Given the description of an element on the screen output the (x, y) to click on. 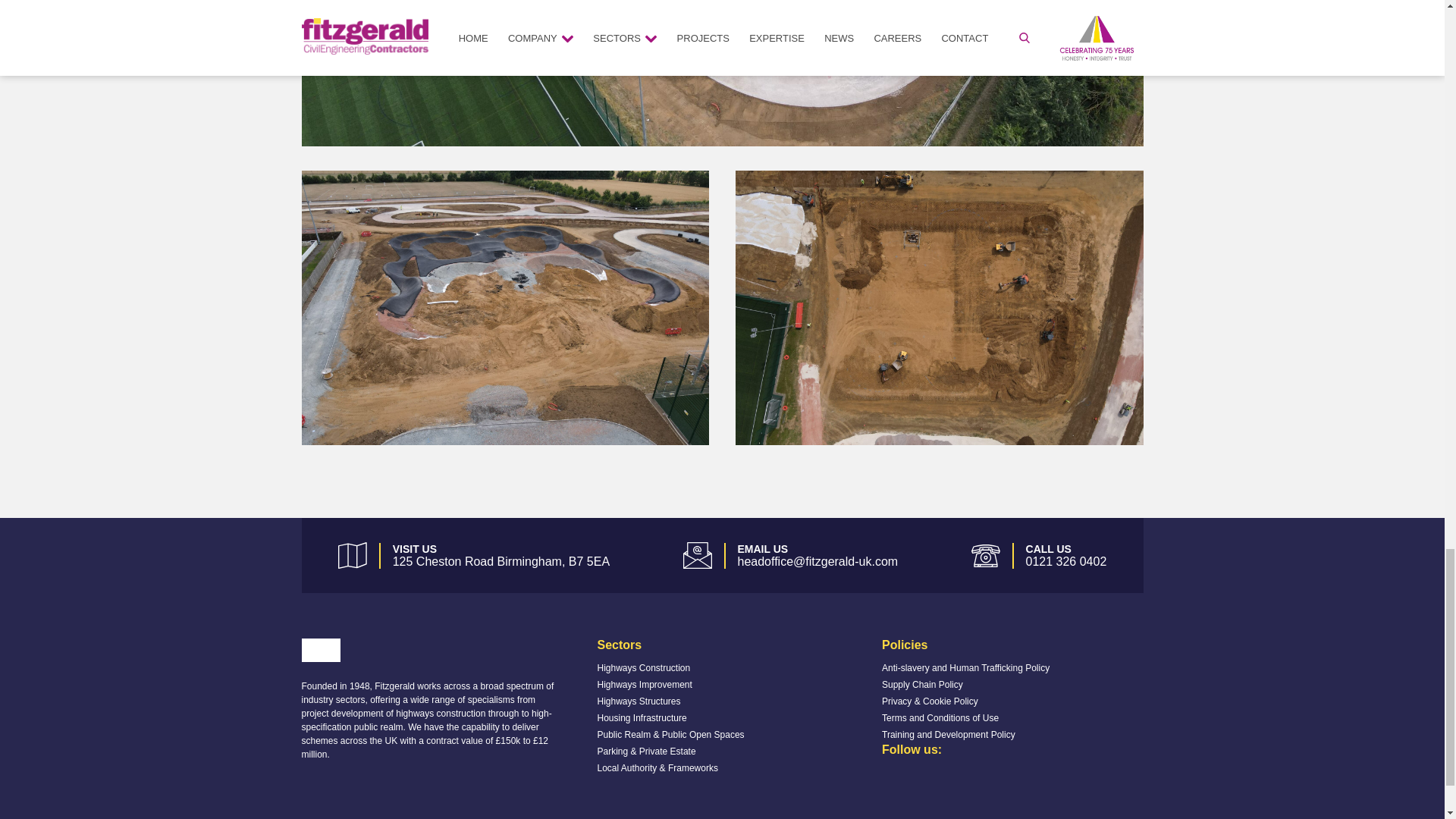
0121 326 0402 (1066, 561)
125 Cheston Road Birmingham, B7 5EA (501, 561)
Highways Improvement (644, 684)
Sectors (619, 644)
Highways Structures (638, 701)
Highways Construction (643, 667)
